Given the description of an element on the screen output the (x, y) to click on. 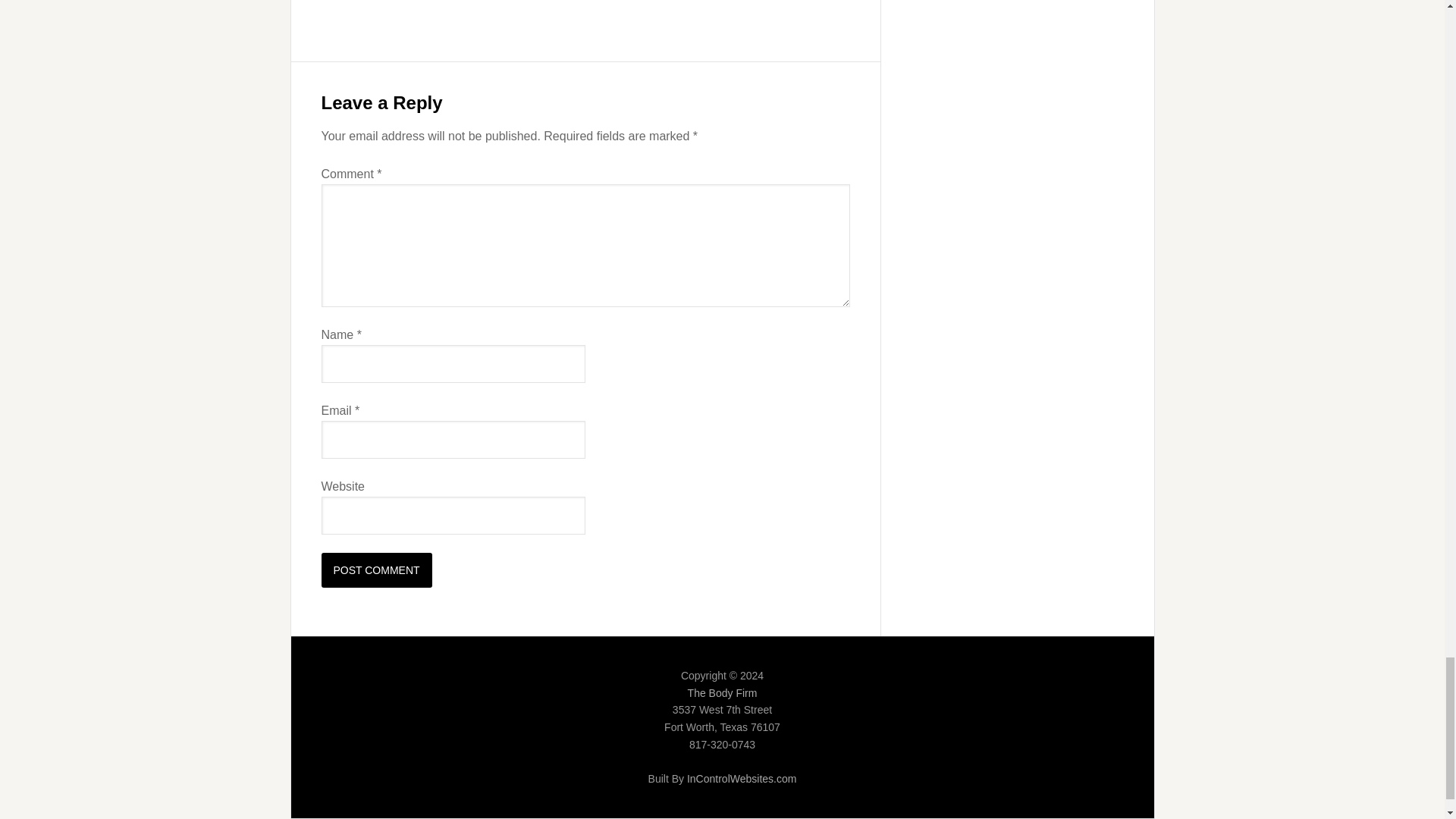
The Body Firm (722, 693)
Post Comment (376, 570)
Post Comment (376, 570)
InControlWebsites.com (741, 778)
